Given the description of an element on the screen output the (x, y) to click on. 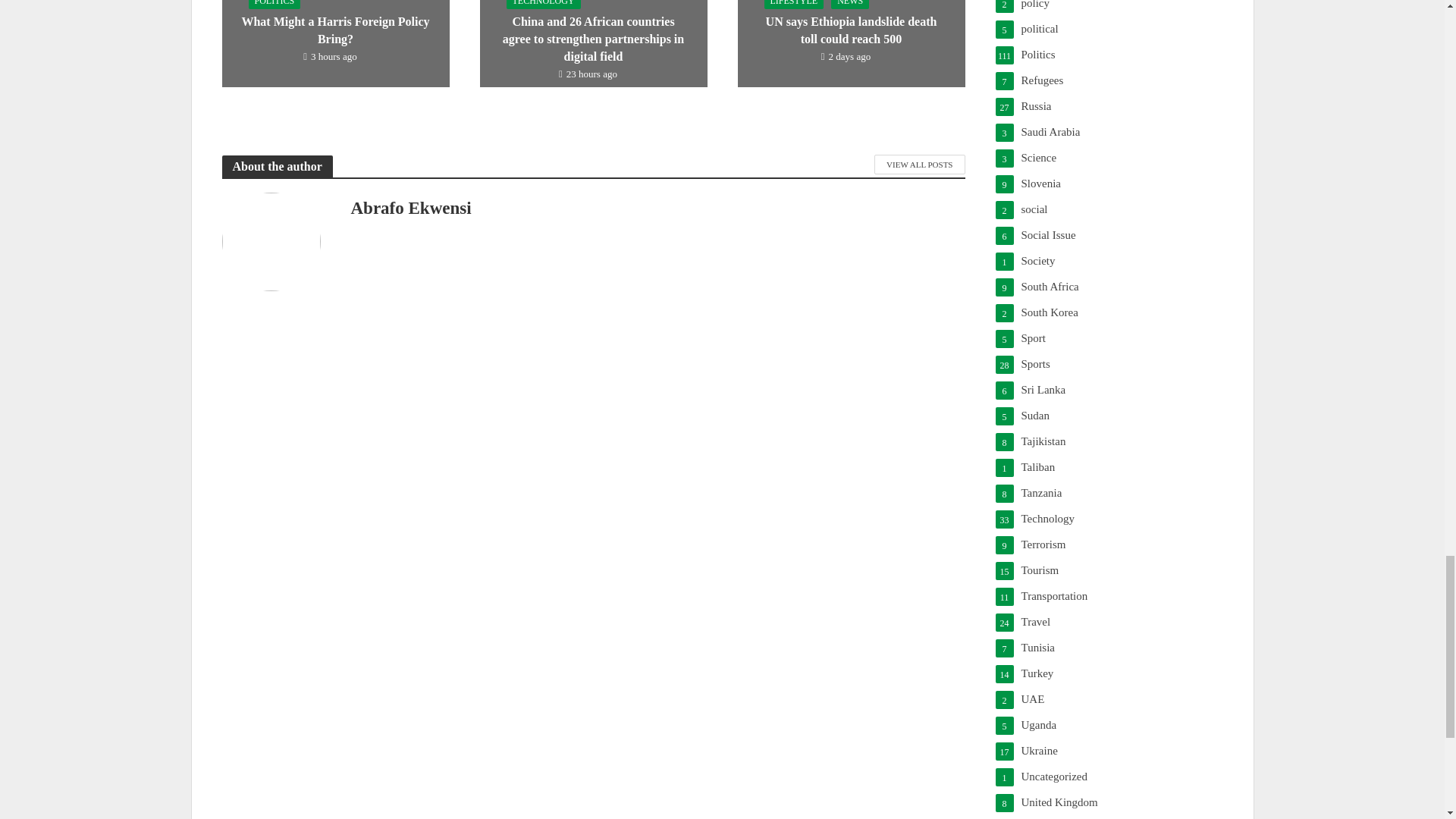
What Might a Harris Foreign Policy Bring? (334, 9)
UN says Ethiopia landslide death toll could reach 500 (849, 9)
